Given the description of an element on the screen output the (x, y) to click on. 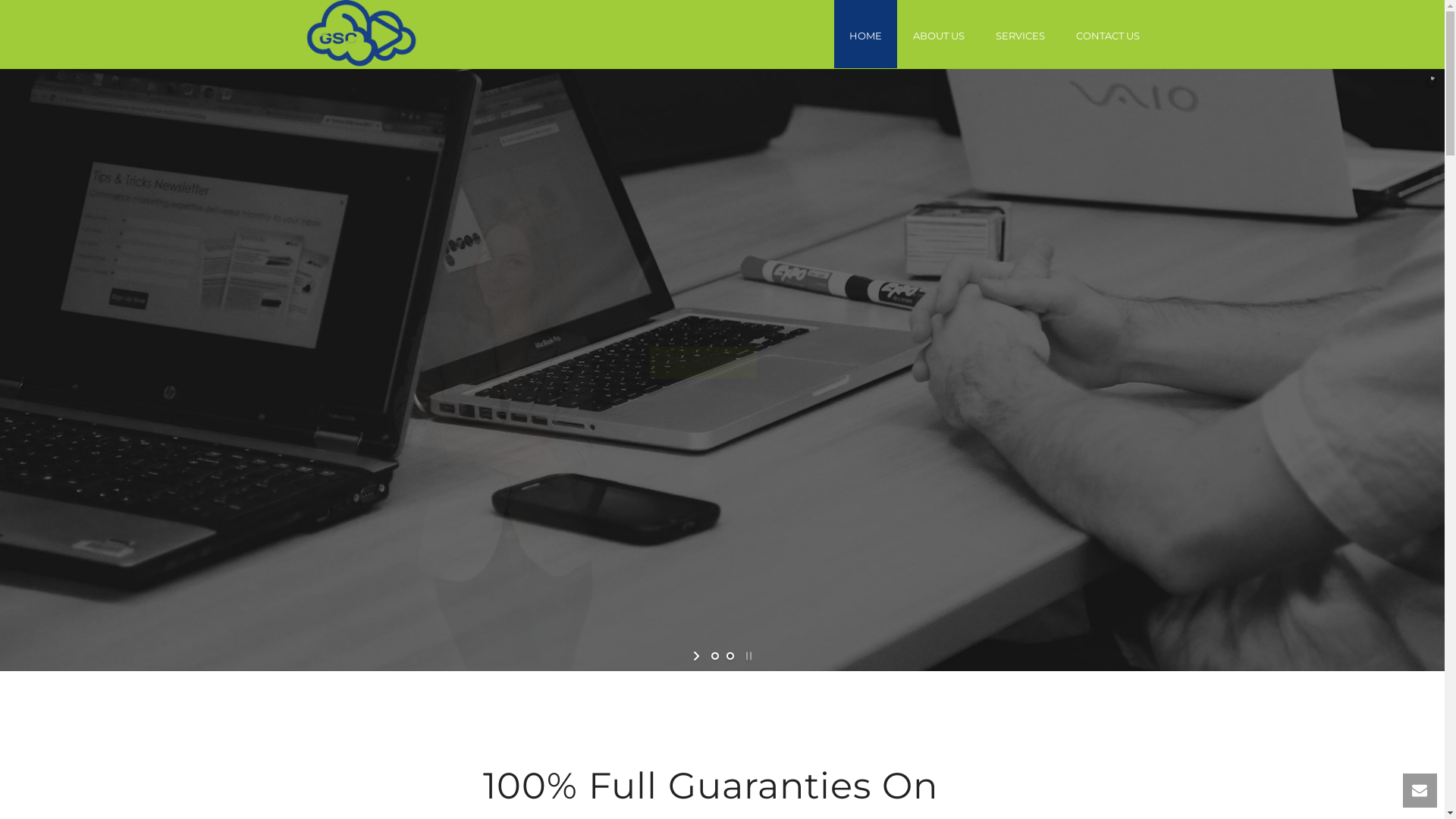
ABOUT US Element type: text (938, 34)
HOME Element type: text (865, 34)
Just another WordPress site Element type: hover (360, 34)
CONTACT US Element type: text (1107, 34)
SERVICES Element type: text (1019, 34)
